Given the description of an element on the screen output the (x, y) to click on. 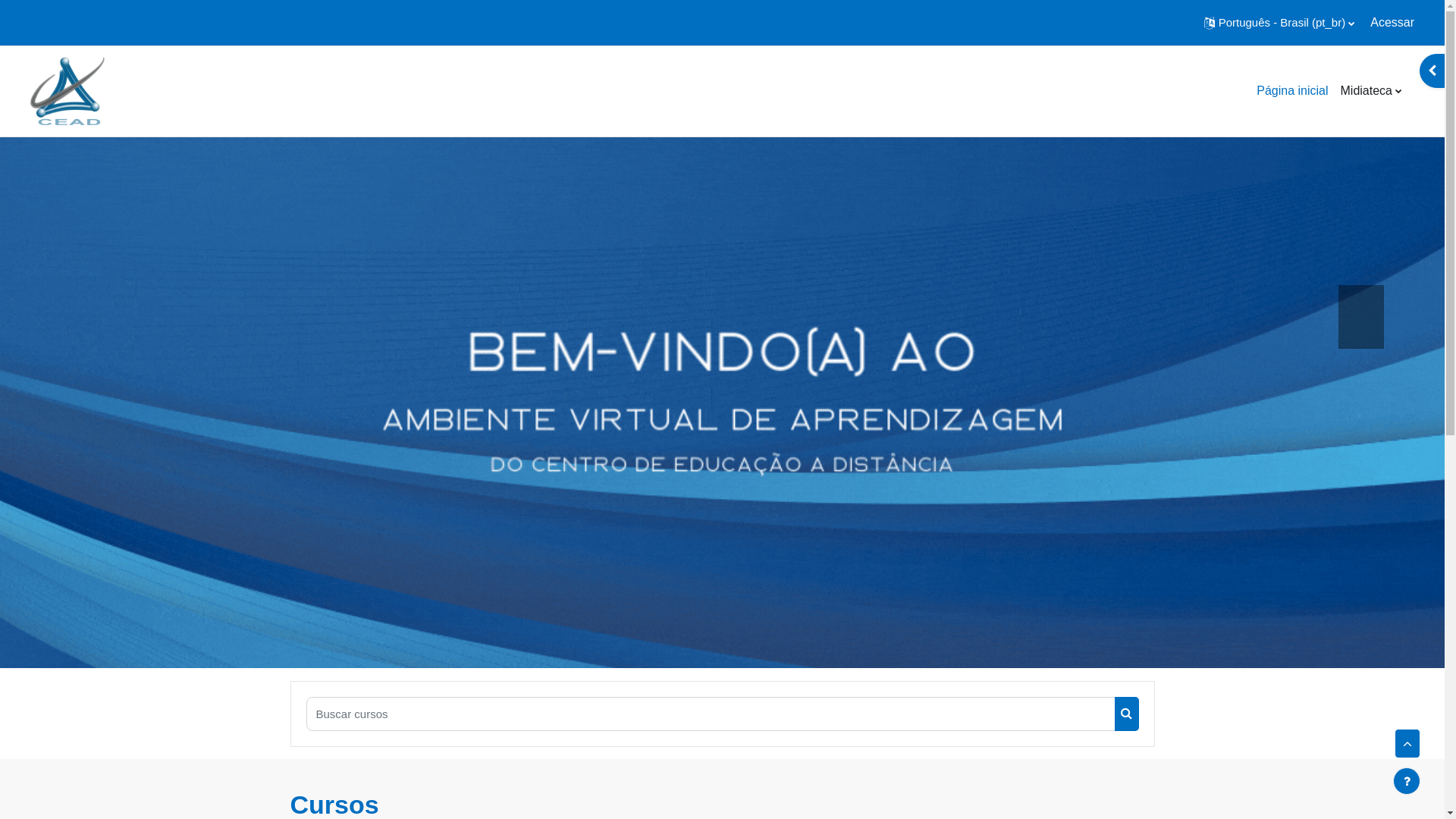
Midiateca Element type: text (1371, 90)
Abrir gaveta de blocos Element type: text (1431, 70)
Buscar cursos Element type: text (1126, 713)
Acessar Element type: text (1392, 22)
